Given the description of an element on the screen output the (x, y) to click on. 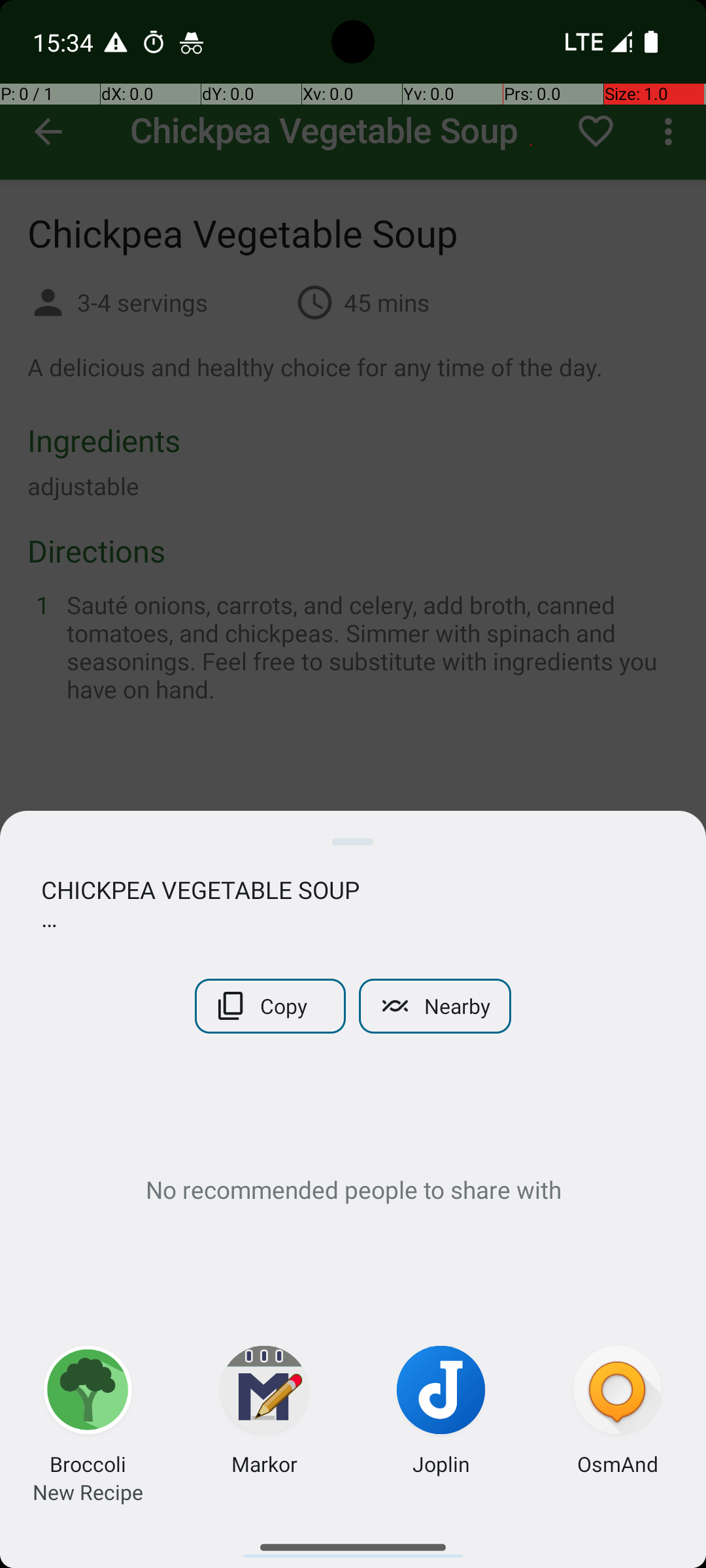
Apps list Element type: android.widget.ImageView (353, 1541)
CHICKPEA VEGETABLE SOUP

Servings: 3-4 servings
Time: 45 mins

A delicious and healthy choice for any time of the day.

Ingredients:
- adjustable

Directions:
1. Sauté onions, carrots, and celery, add broth, canned tomatoes, and chickpeas. Simmer with spinach and seasonings. Feel free to substitute with ingredients you have on hand.

Shared with https://play.google.com/store/apps/details?id=com.flauschcode.broccoli Element type: android.widget.TextView (352, 903)
Copy Element type: android.widget.Button (269, 1005)
Nearby Element type: android.widget.Button (434, 1005)
No recommended people to share with Element type: android.widget.TextView (353, 1189)
Broccoli Element type: android.widget.TextView (87, 1463)
Joplin Element type: android.widget.TextView (441, 1463)
OsmAnd Element type: android.widget.TextView (617, 1463)
